Given the description of an element on the screen output the (x, y) to click on. 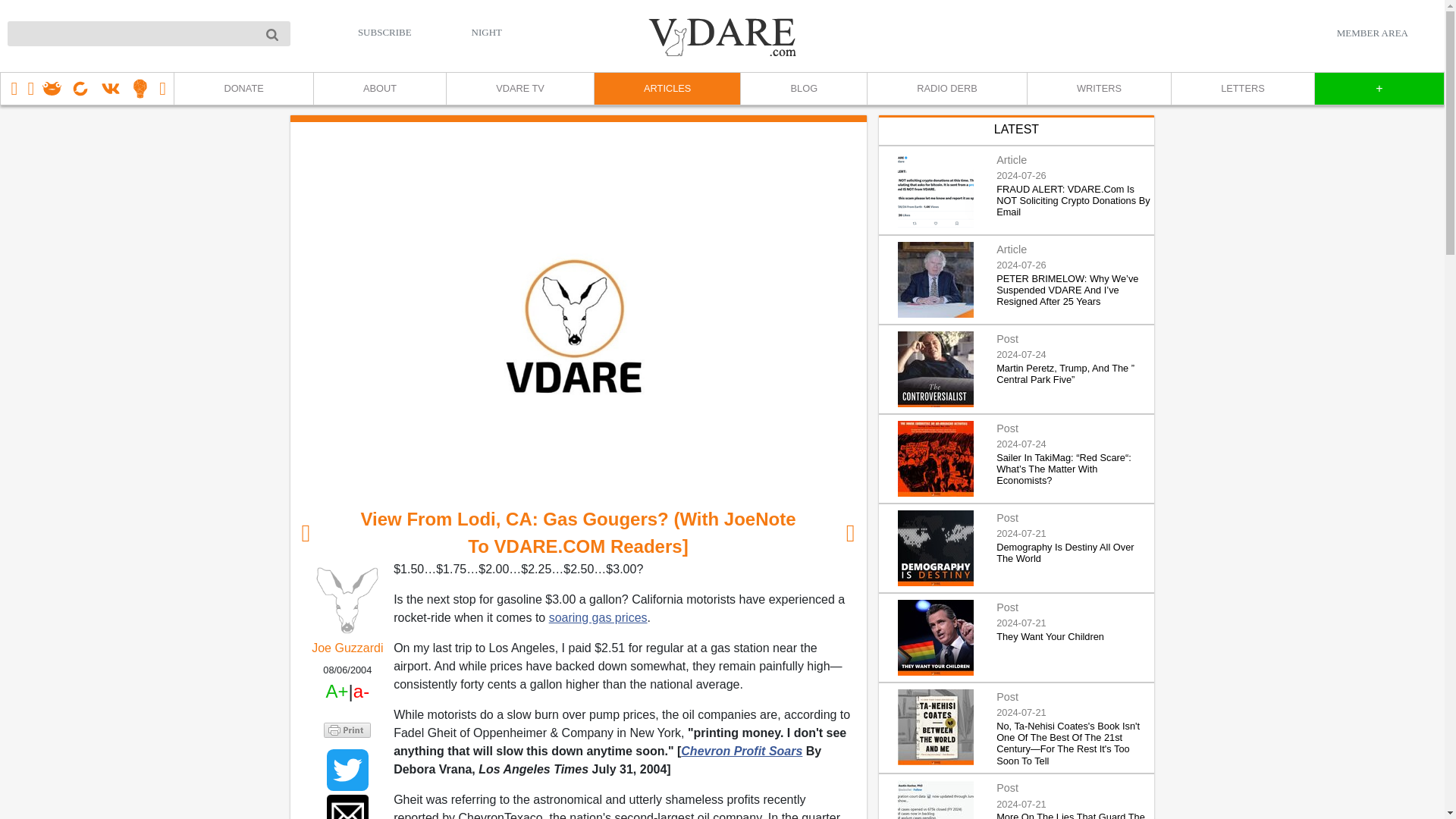
WRITERS (1098, 88)
Share to Email (347, 806)
BLOG (802, 88)
ARTICLES (666, 88)
LETTERS (1242, 88)
RADIO DERB (946, 88)
SUBSCRIBE (385, 31)
Printer Friendly and PDF (347, 729)
MEMBER AREA (1371, 32)
VDARE TV (519, 88)
